Given the description of an element on the screen output the (x, y) to click on. 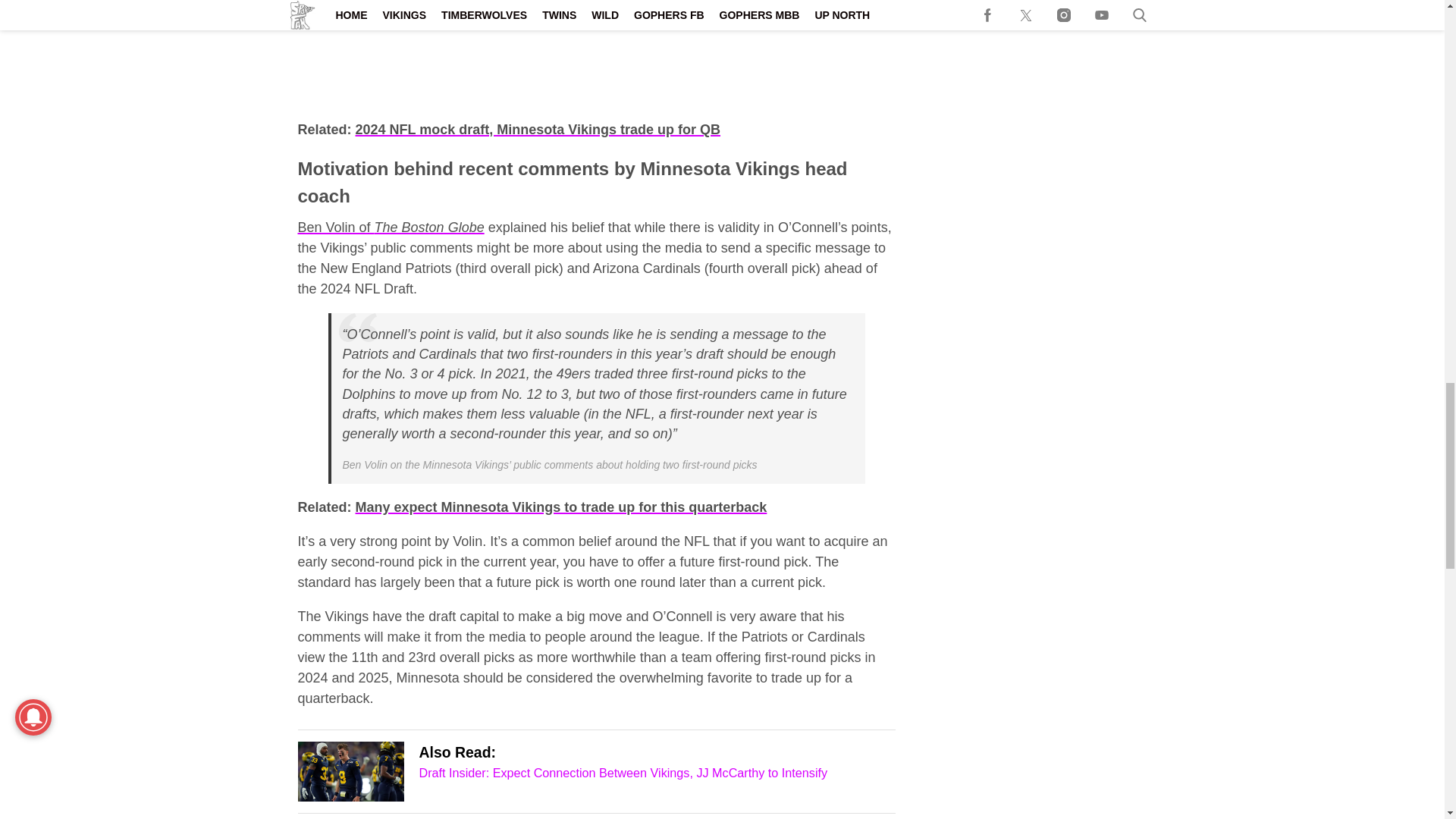
Ben Volin of The Boston Globe (390, 227)
2024 NFL mock draft, Minnesota Vikings trade up for QB (537, 129)
